Given the description of an element on the screen output the (x, y) to click on. 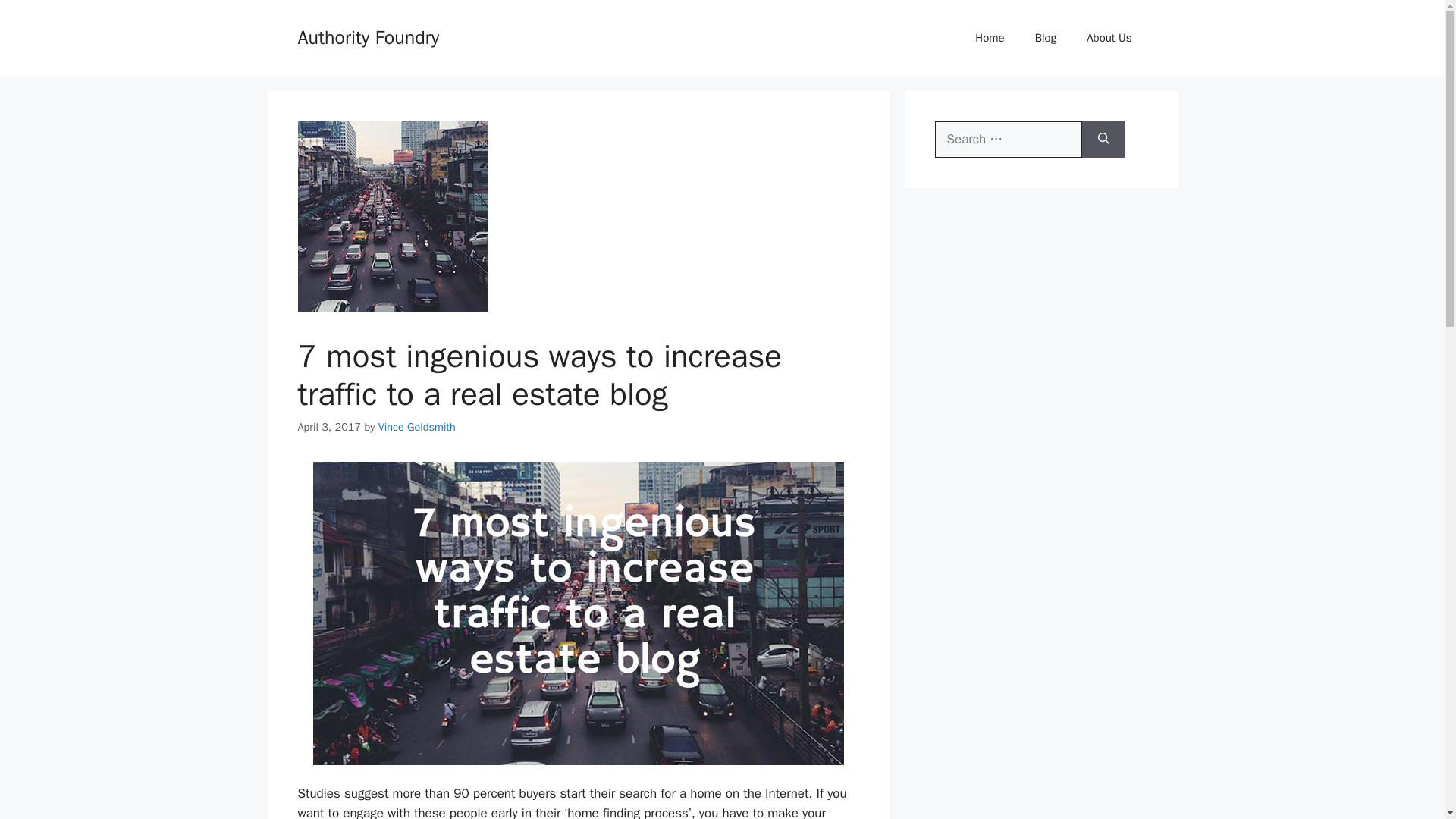
About Us (1109, 37)
Home (989, 37)
View all posts by Vince Goldsmith (416, 427)
Blog (1045, 37)
Vince Goldsmith (416, 427)
Authority Foundry (368, 37)
Search for: (1007, 139)
